Given the description of an element on the screen output the (x, y) to click on. 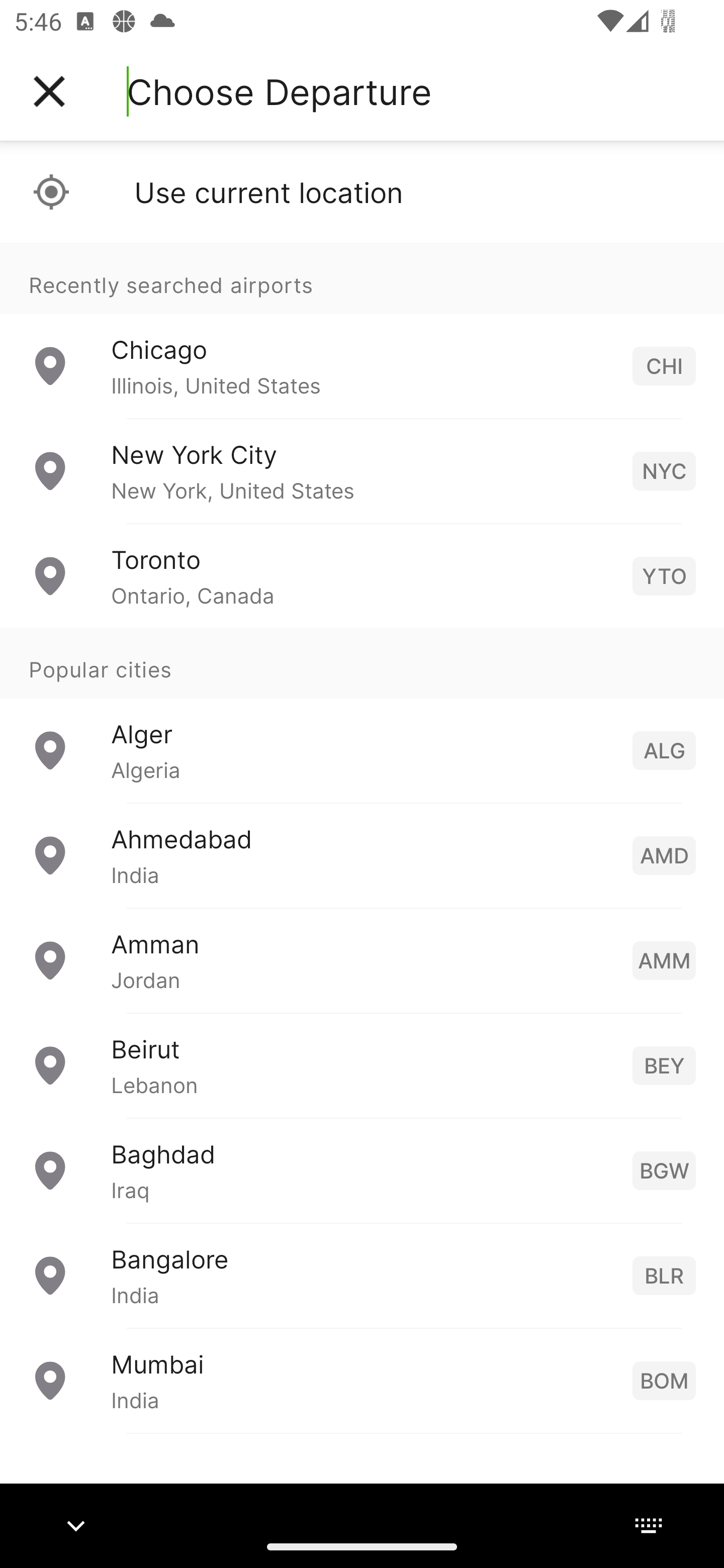
Choose Departure (279, 91)
Use current location (362, 192)
Recently searched airports (362, 278)
New York City New York, United States NYC (362, 470)
Toronto Ontario, Canada YTO (362, 575)
Popular cities Alger Algeria ALG (362, 715)
Popular cities (362, 663)
Ahmedabad India AMD (362, 854)
Amman Jordan AMM (362, 959)
Beirut Lebanon BEY (362, 1064)
Baghdad Iraq BGW (362, 1170)
Bangalore India BLR (362, 1275)
Mumbai India BOM (362, 1380)
